Given the description of an element on the screen output the (x, y) to click on. 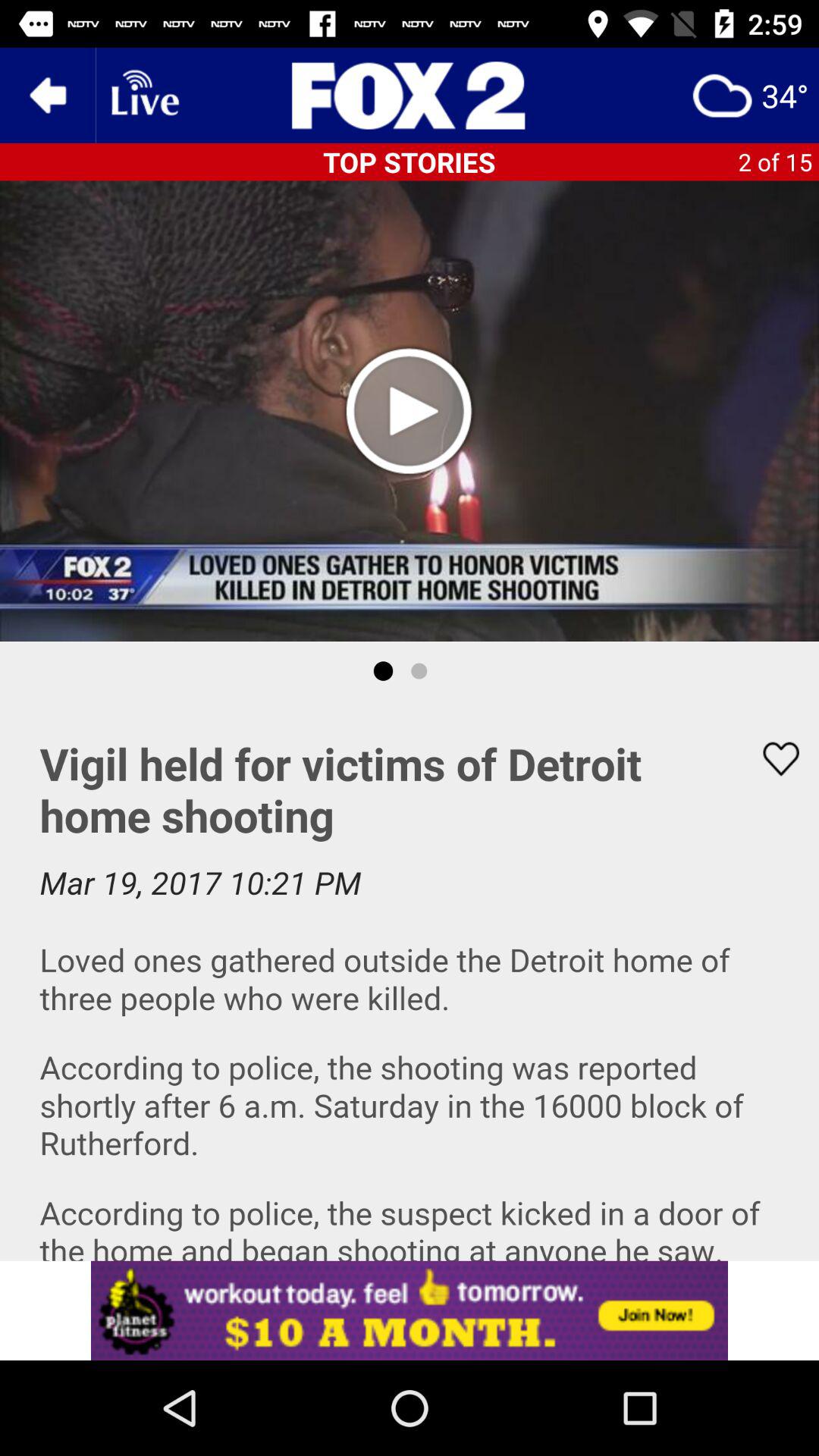
this app install app (409, 1310)
